Given the description of an element on the screen output the (x, y) to click on. 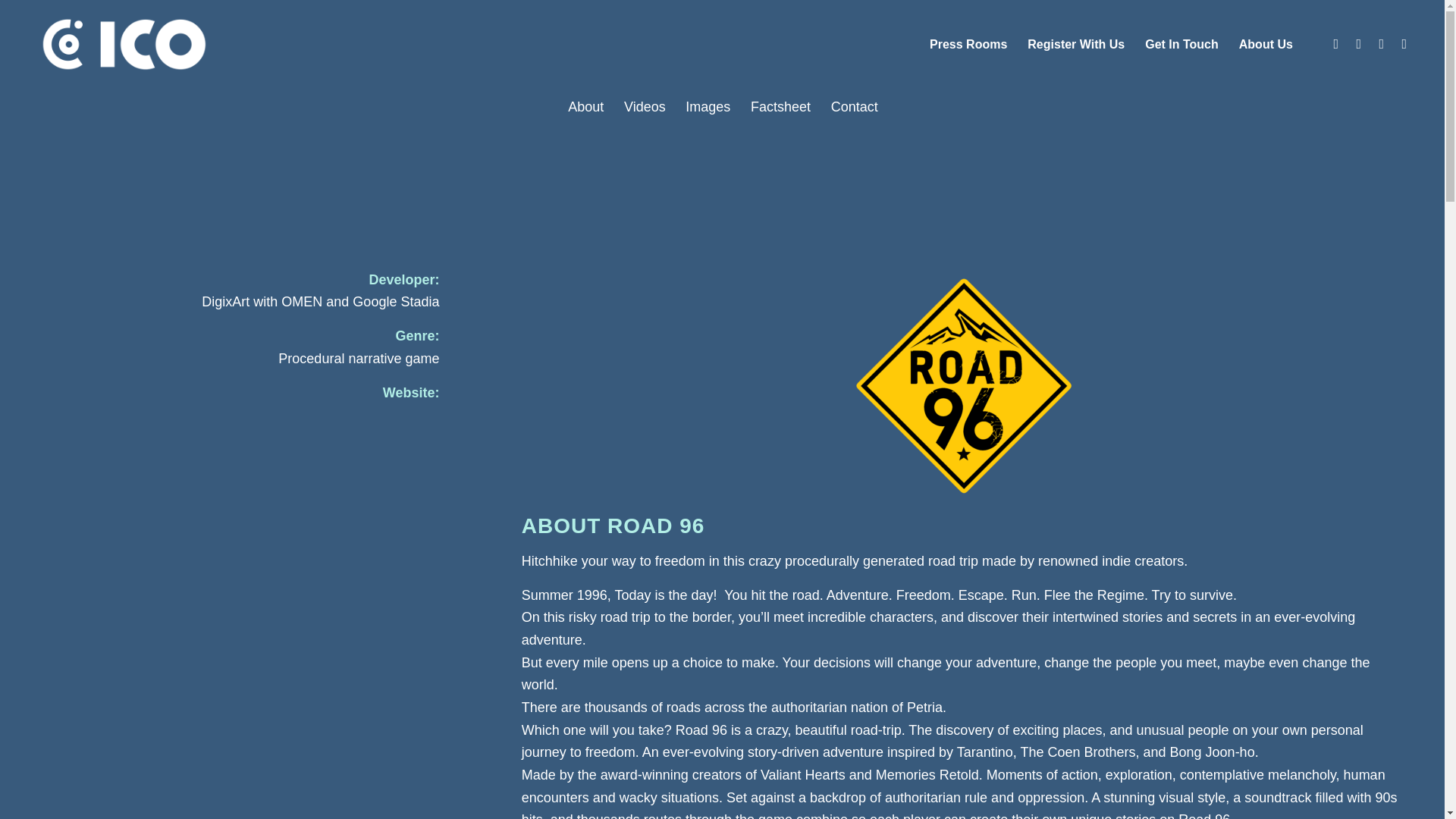
Twitter (1359, 43)
Instagram (1381, 43)
Videos (643, 107)
Factsheet (779, 107)
Get In Touch (1181, 44)
Images (706, 107)
Contact (853, 107)
Register With Us (1075, 44)
Press Rooms (968, 44)
Linkedin (1404, 43)
About (585, 107)
Facebook (1336, 43)
